Given the description of an element on the screen output the (x, y) to click on. 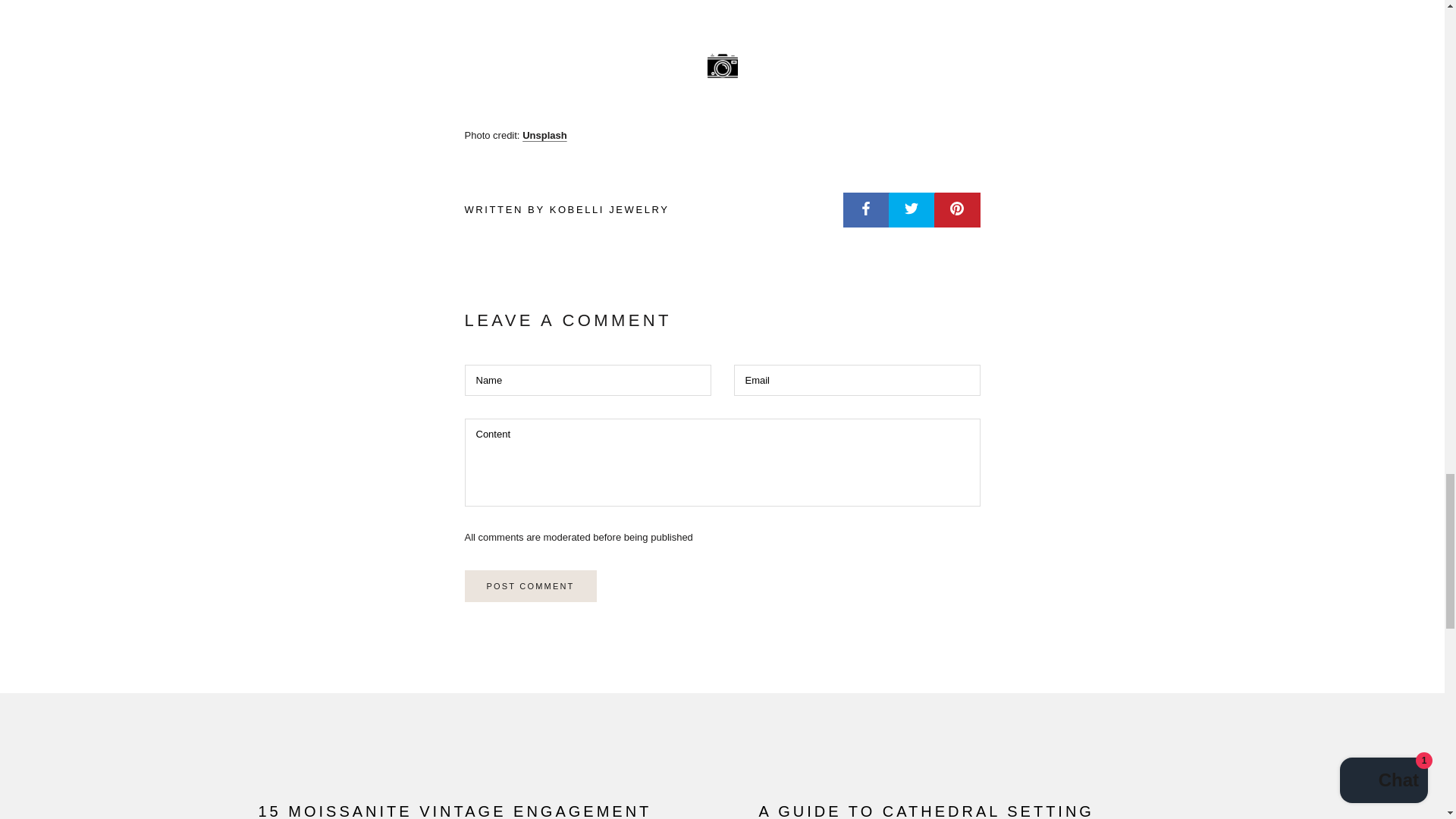
Unsplash (544, 134)
